Given the description of an element on the screen output the (x, y) to click on. 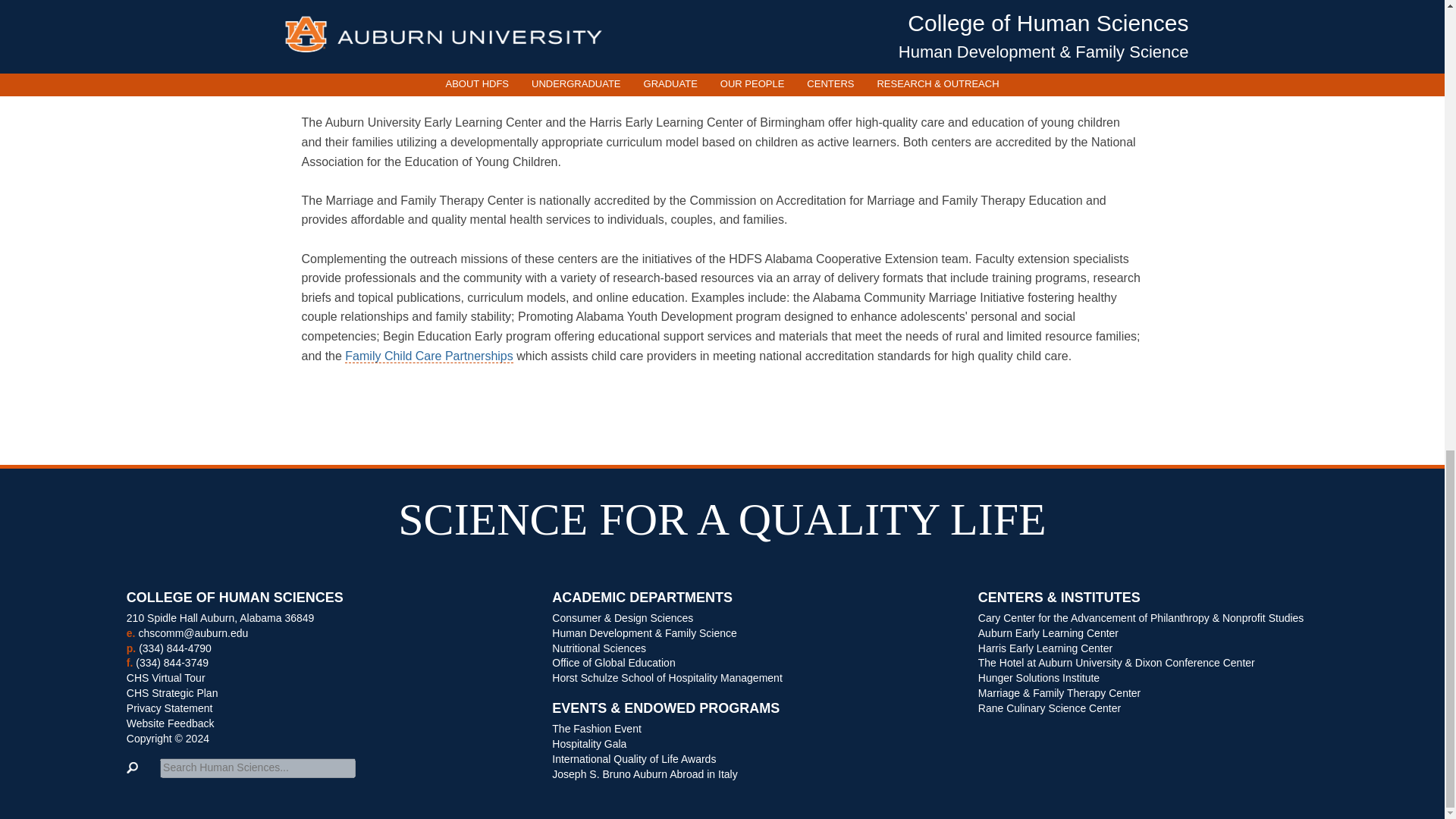
Marriage and Family Therapy Center (1010, 77)
Auburn University Early Learning Center (434, 77)
COLLEGE OF HUMAN SCIENCES (316, 603)
CHS Virtual Tour (165, 677)
Harris Early Learning Center Birmingham (721, 77)
Family Child Care Partnerships (428, 356)
